Given the description of an element on the screen output the (x, y) to click on. 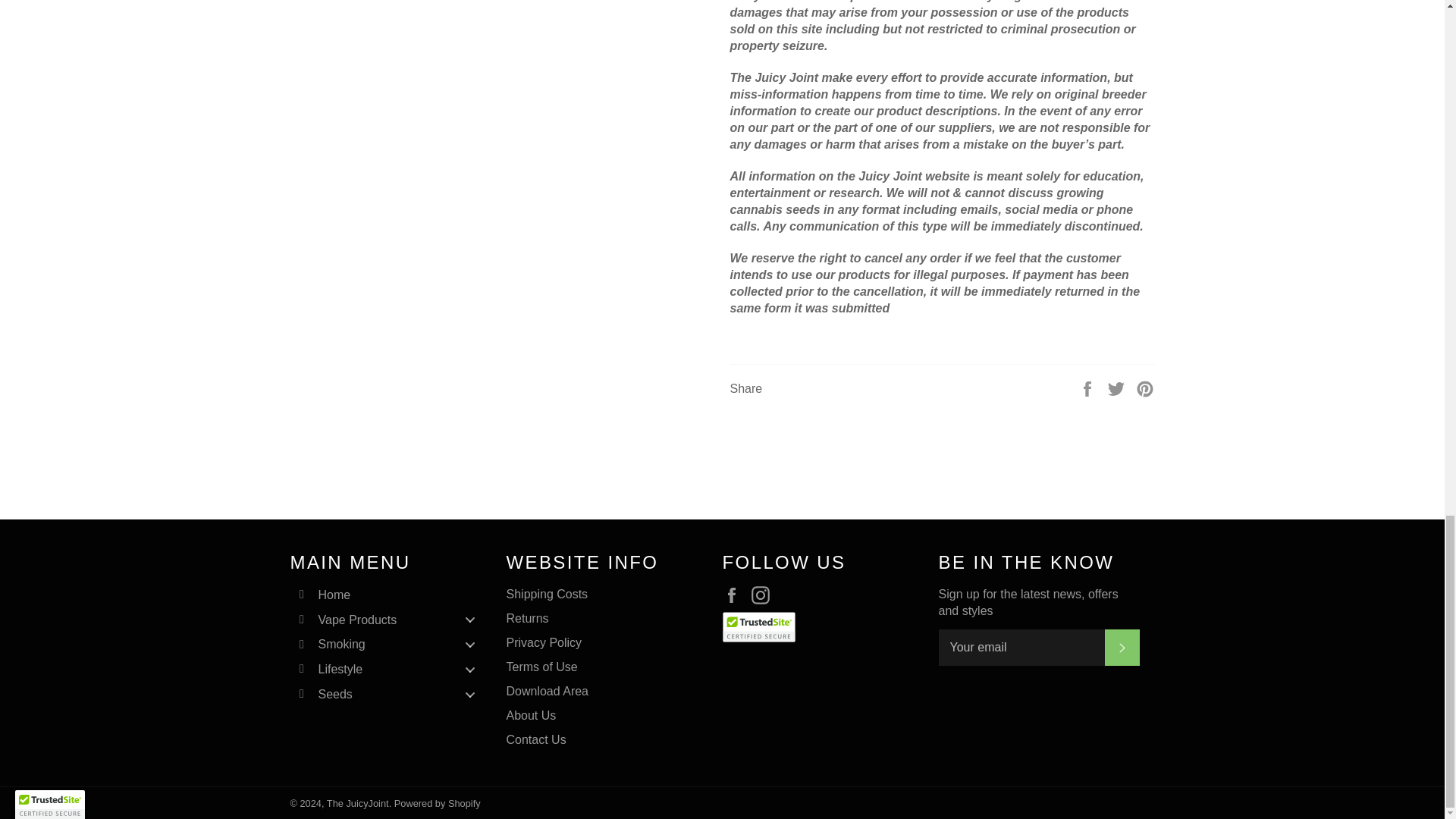
Toggle menu (469, 693)
Share on Facebook (1088, 387)
Toggle menu (469, 668)
Toggle menu (469, 619)
Toggle menu (469, 644)
The JuicyJoint on Facebook (735, 595)
Pin on Pinterest (1144, 387)
Tweet on Twitter (1117, 387)
TrustedSite Certified (758, 626)
The JuicyJoint on Instagram (764, 595)
